Given the description of an element on the screen output the (x, y) to click on. 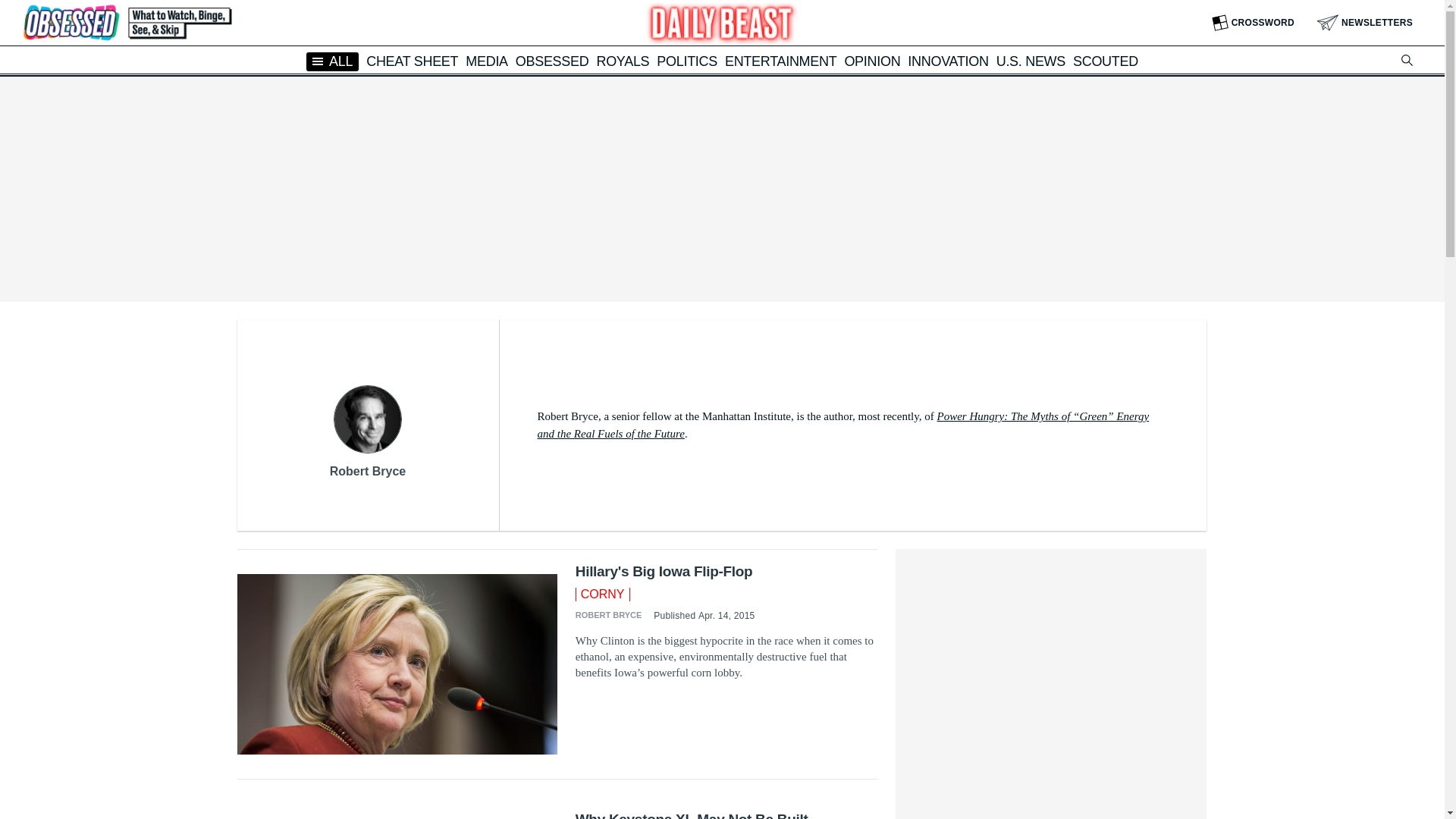
POLITICS (686, 60)
ALL (331, 60)
NEWSLETTERS (1364, 22)
U.S. NEWS (1030, 60)
ENTERTAINMENT (780, 60)
CHEAT SHEET (412, 60)
OPINION (871, 60)
INNOVATION (947, 60)
MEDIA (486, 60)
ROYALS (622, 60)
